Given the description of an element on the screen output the (x, y) to click on. 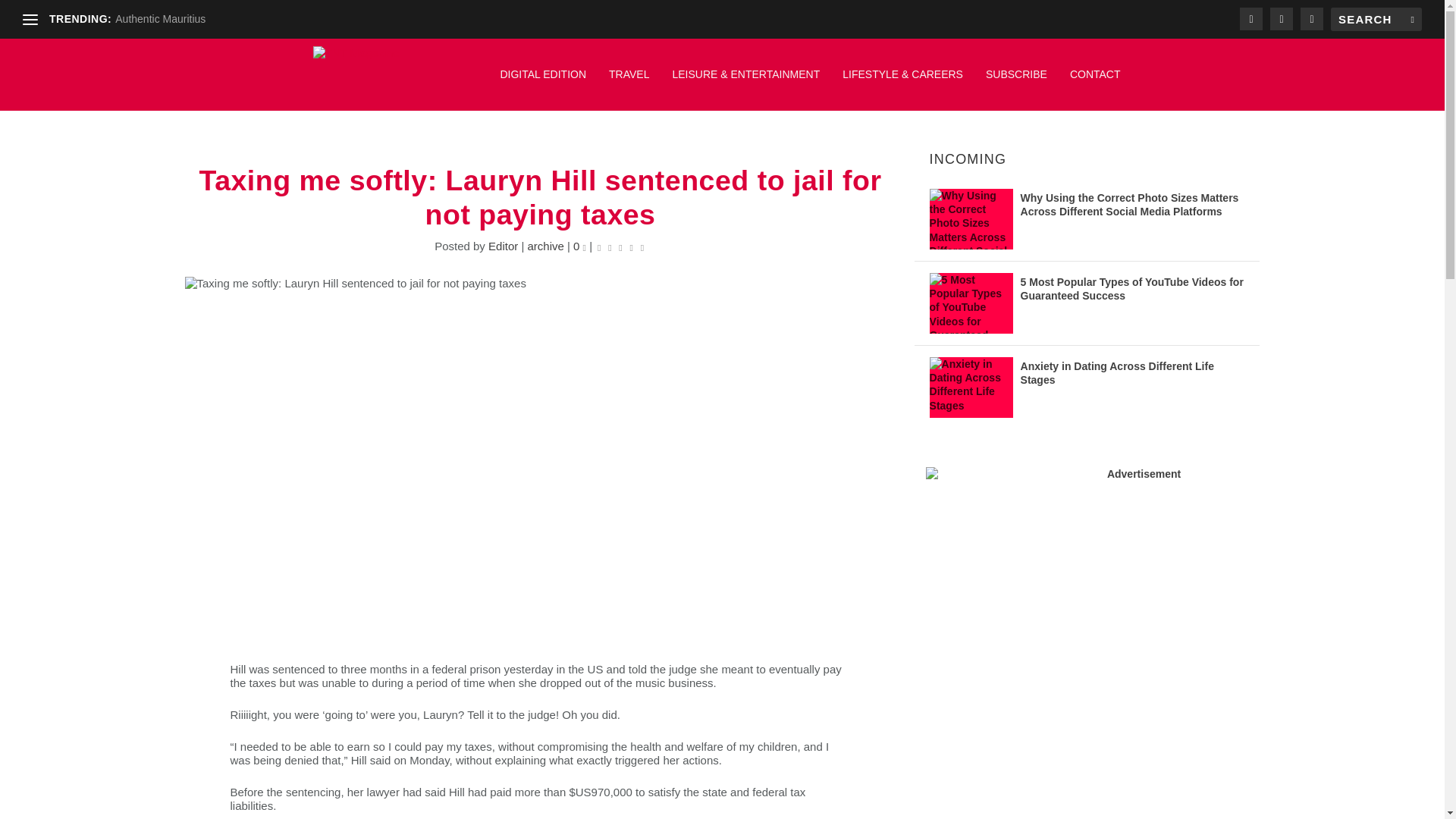
Rating: 0.00 (620, 246)
0 (579, 245)
SUBSCRIBE (1015, 82)
Posts by Editor (502, 245)
Editor (502, 245)
Authentic Mauritius (160, 19)
Search for: (1376, 19)
DIGITAL EDITION (542, 82)
archive (545, 245)
